Given the description of an element on the screen output the (x, y) to click on. 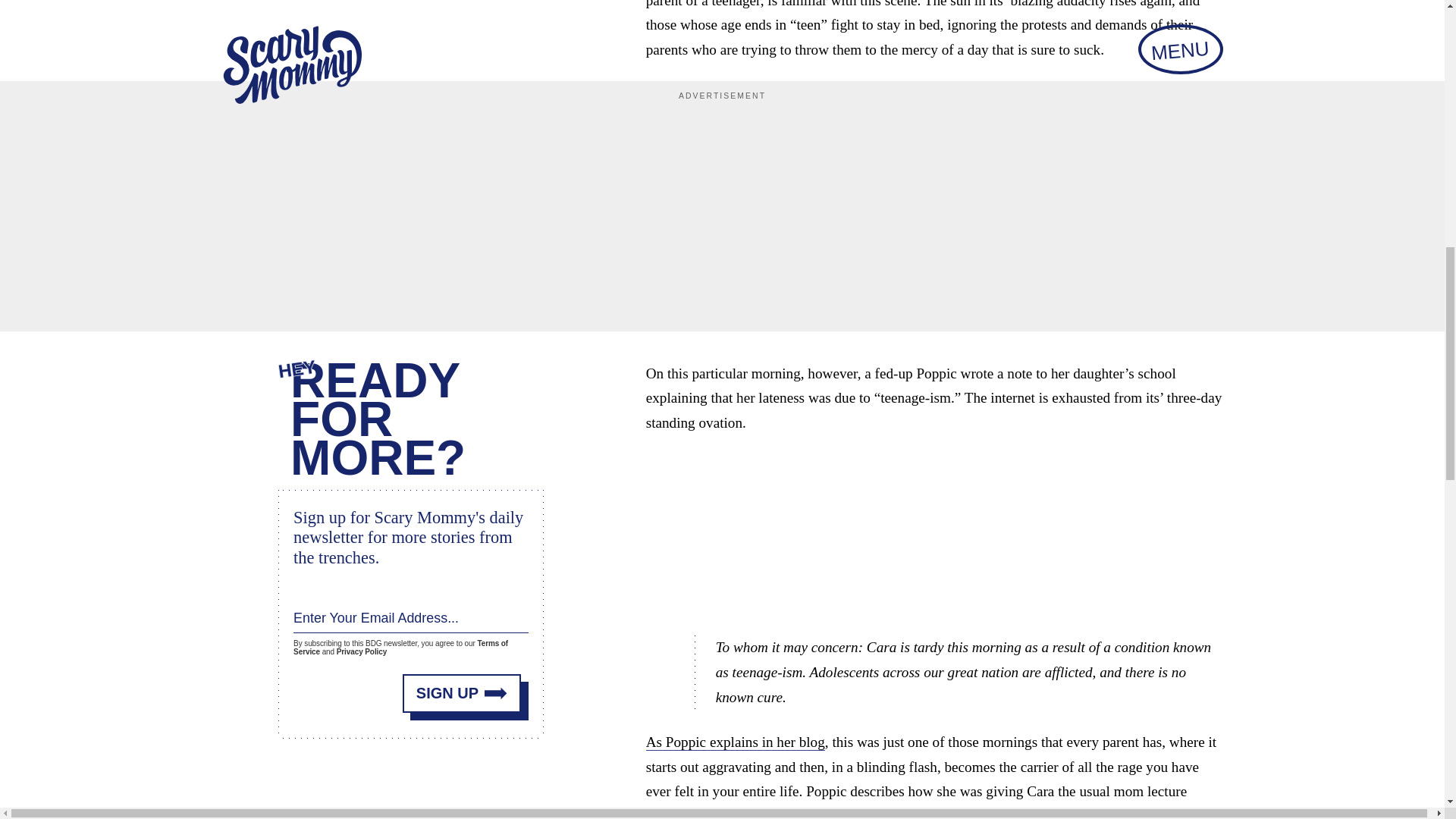
As Poppic explains in her blog (735, 742)
Privacy Policy (361, 649)
SIGN UP (462, 688)
Terms of Service (401, 643)
